Given the description of an element on the screen output the (x, y) to click on. 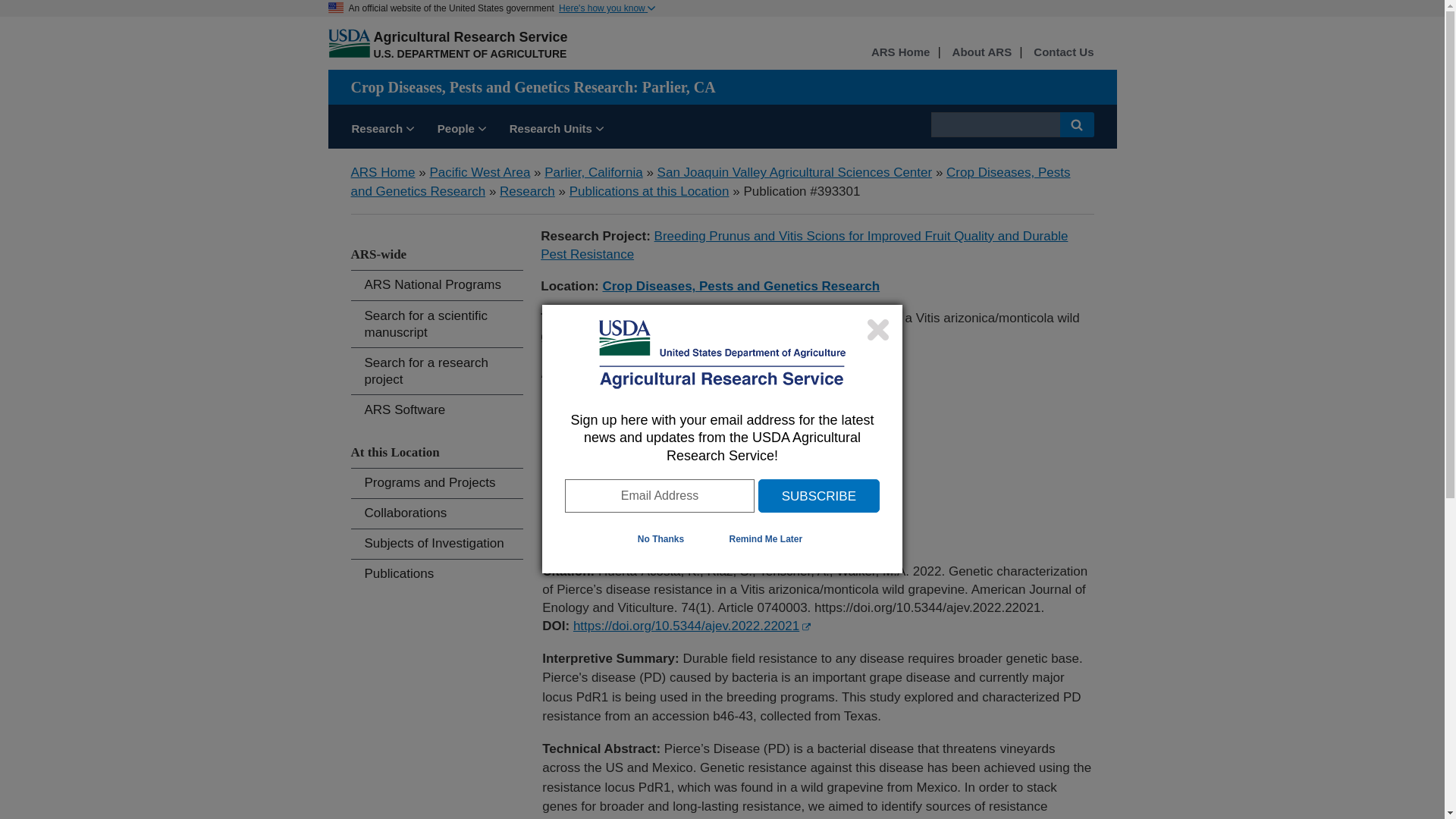
ARS Home (382, 172)
People (461, 130)
ARS Home (900, 52)
Publications at this Location (649, 191)
U.S. DEPARTMENT OF AGRICULTURE (469, 53)
Agricultural Research Service (469, 37)
Here's how you know (607, 8)
About ARS (981, 52)
Contact Us (1063, 52)
Search for a scientific manuscript (436, 324)
